Given the description of an element on the screen output the (x, y) to click on. 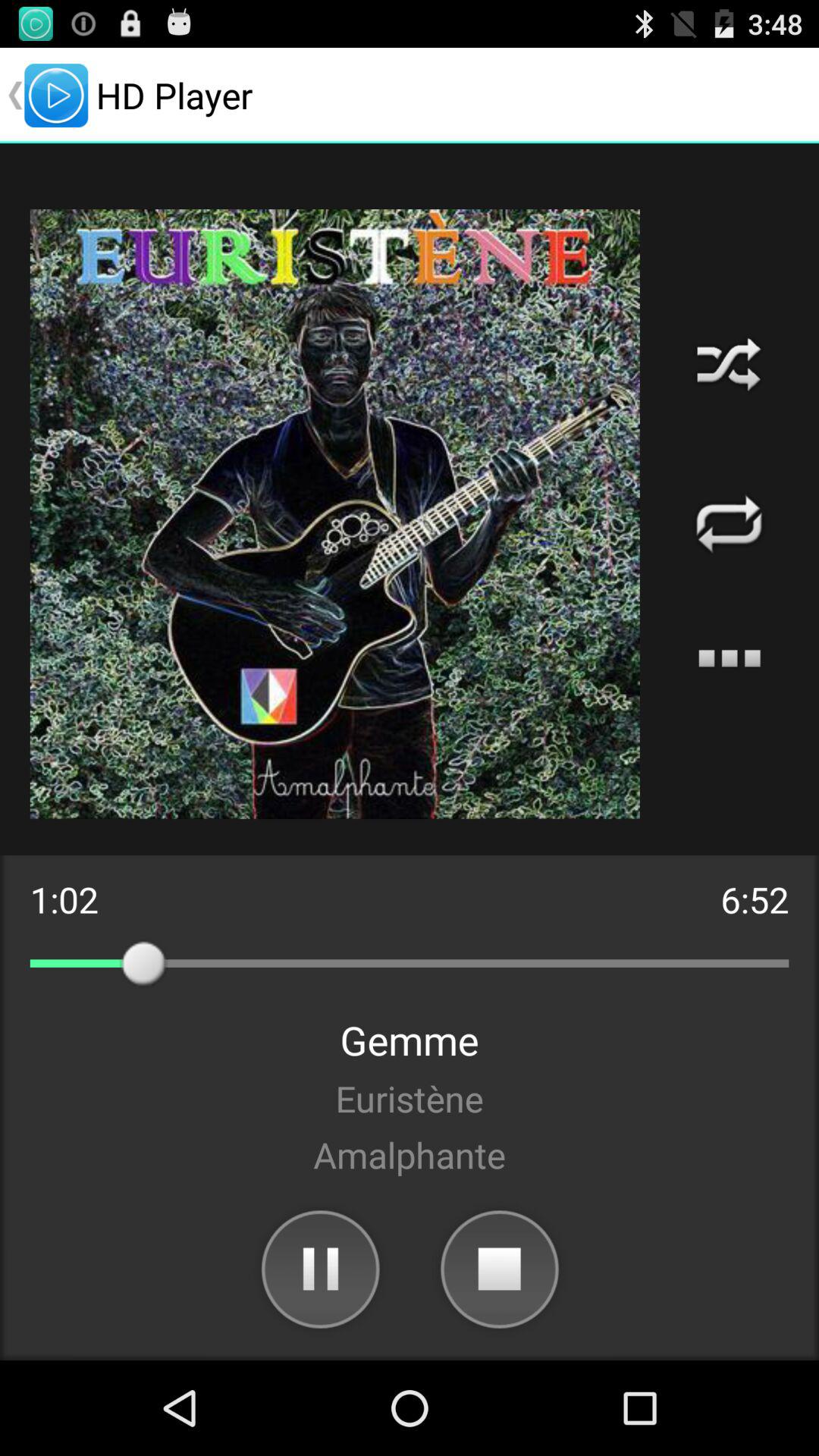
click item next to the 6:52 icon (64, 899)
